Given the description of an element on the screen output the (x, y) to click on. 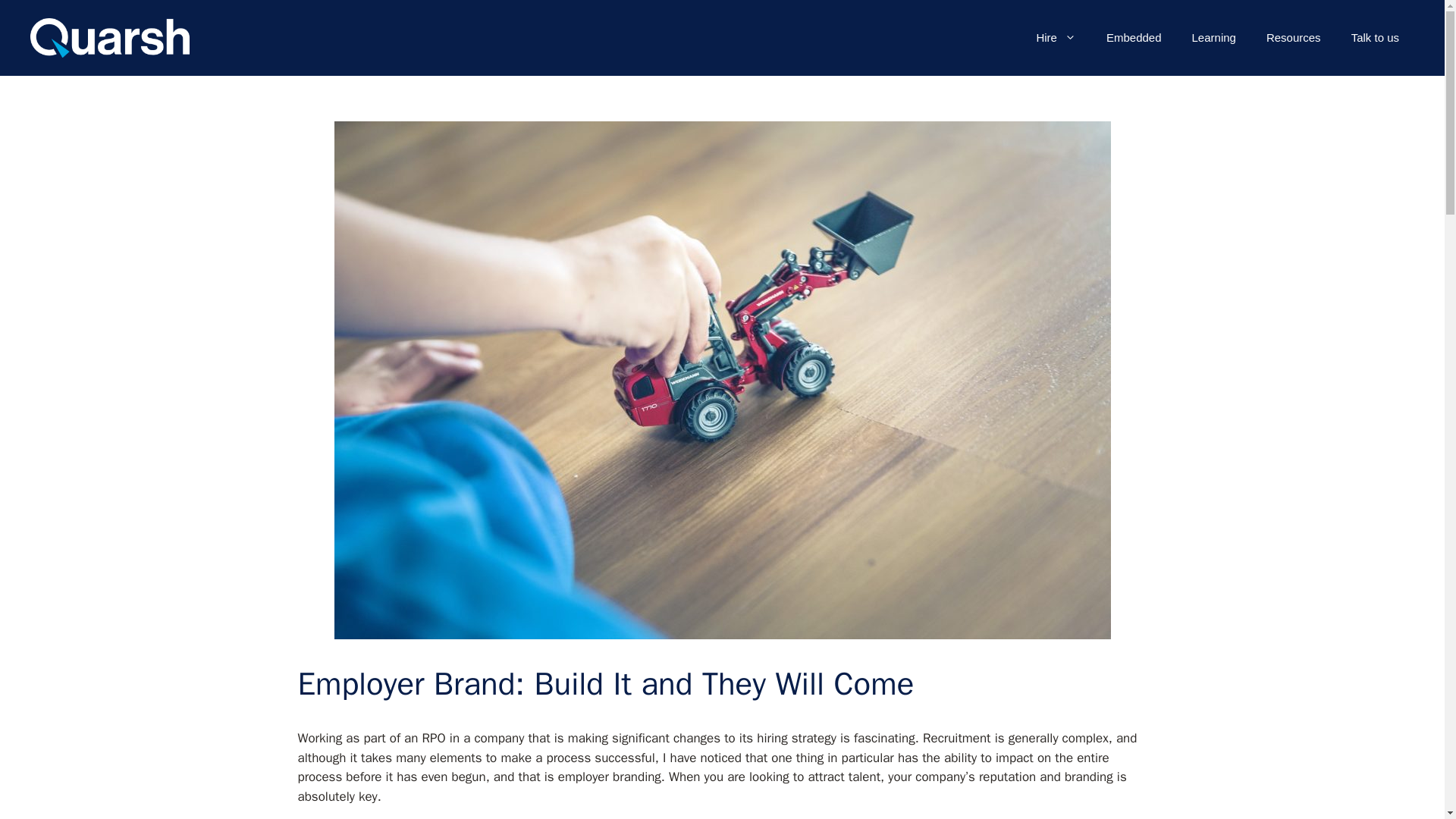
Embedded (1133, 37)
Resources (1293, 37)
Learning (1213, 37)
RPO (433, 738)
Talk to us (1374, 37)
Hire (1055, 37)
Recruitment (957, 738)
